Given the description of an element on the screen output the (x, y) to click on. 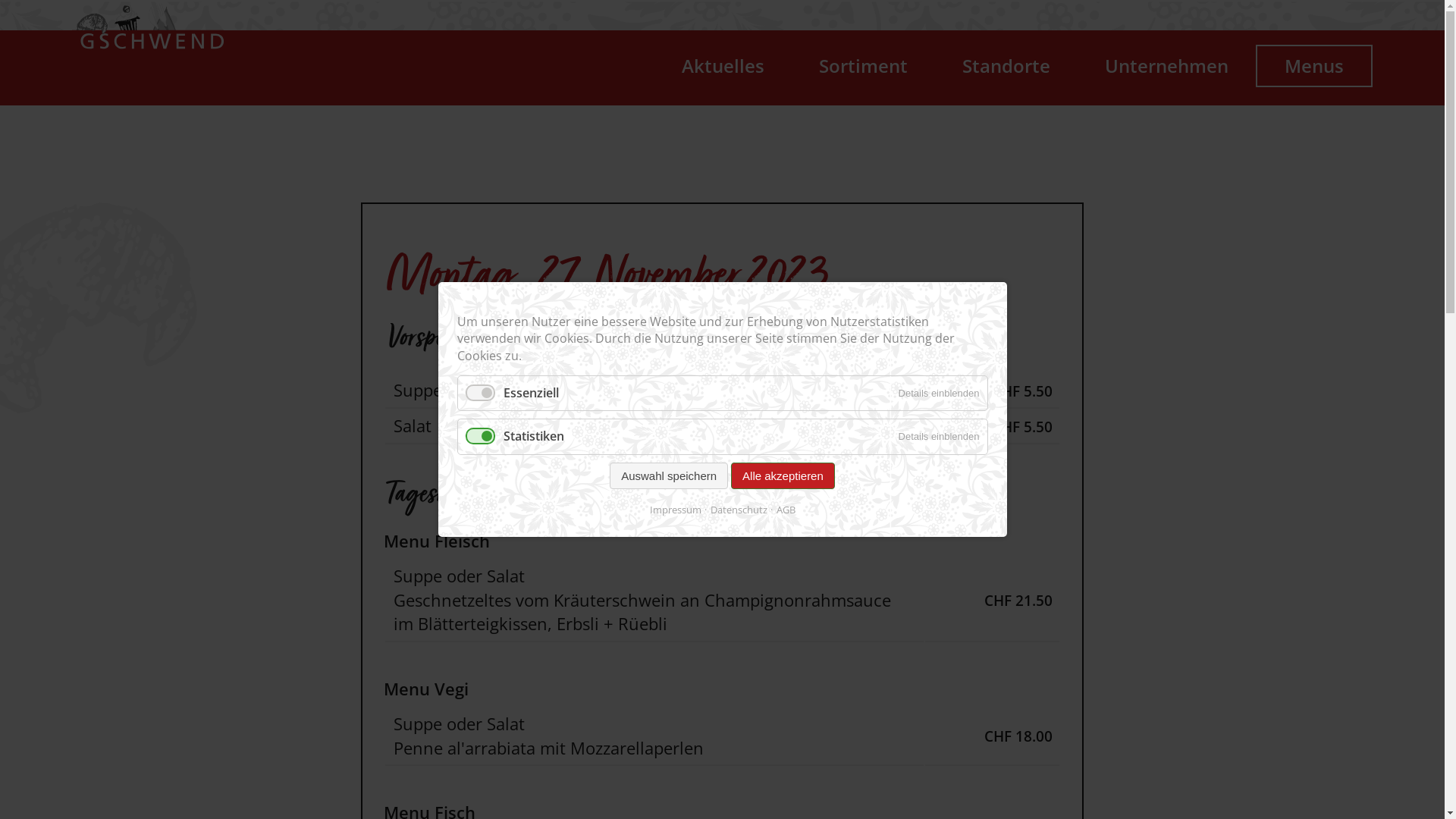
Auswahl speichern Element type: text (668, 475)
Datenschutz Element type: text (734, 509)
Standorte Element type: text (1006, 73)
Menus Element type: text (1313, 65)
Sortiment Element type: text (863, 73)
Aktuelles Element type: text (722, 73)
  Element type: text (71, 100)
Details einblenden Element type: text (939, 393)
Unternehmen Element type: text (1166, 73)
Impressum Element type: text (674, 509)
Details einblenden Element type: text (939, 436)
Alle akzeptieren Element type: text (782, 475)
AGB Element type: text (782, 509)
